Given the description of an element on the screen output the (x, y) to click on. 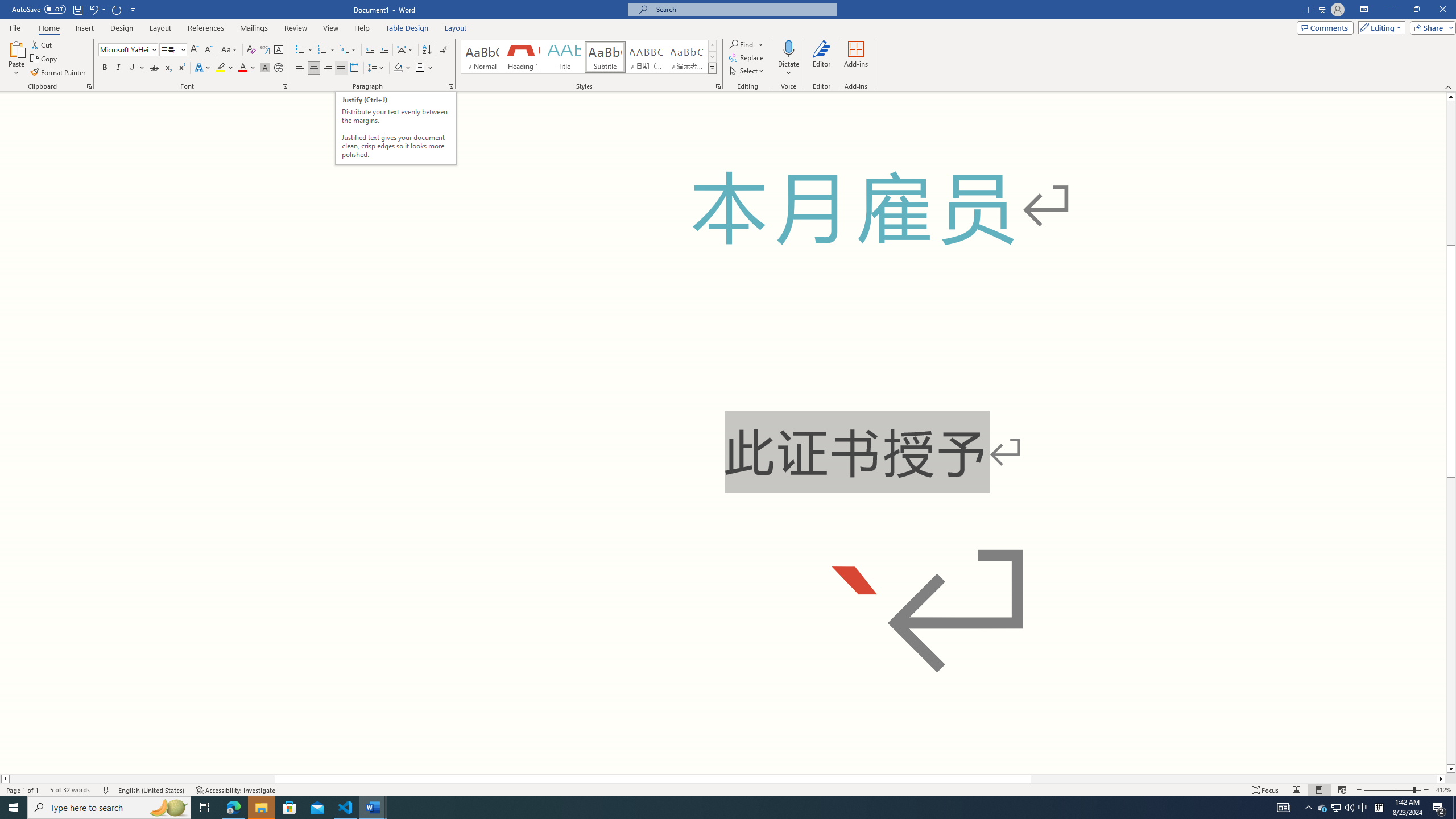
Select (747, 69)
Superscript (180, 67)
Subscript (167, 67)
Format Painter (58, 72)
Undo Superscript (96, 9)
Accessibility Checker Accessibility: Investigate (235, 790)
Shading (402, 67)
Increase Indent (383, 49)
